Given the description of an element on the screen output the (x, y) to click on. 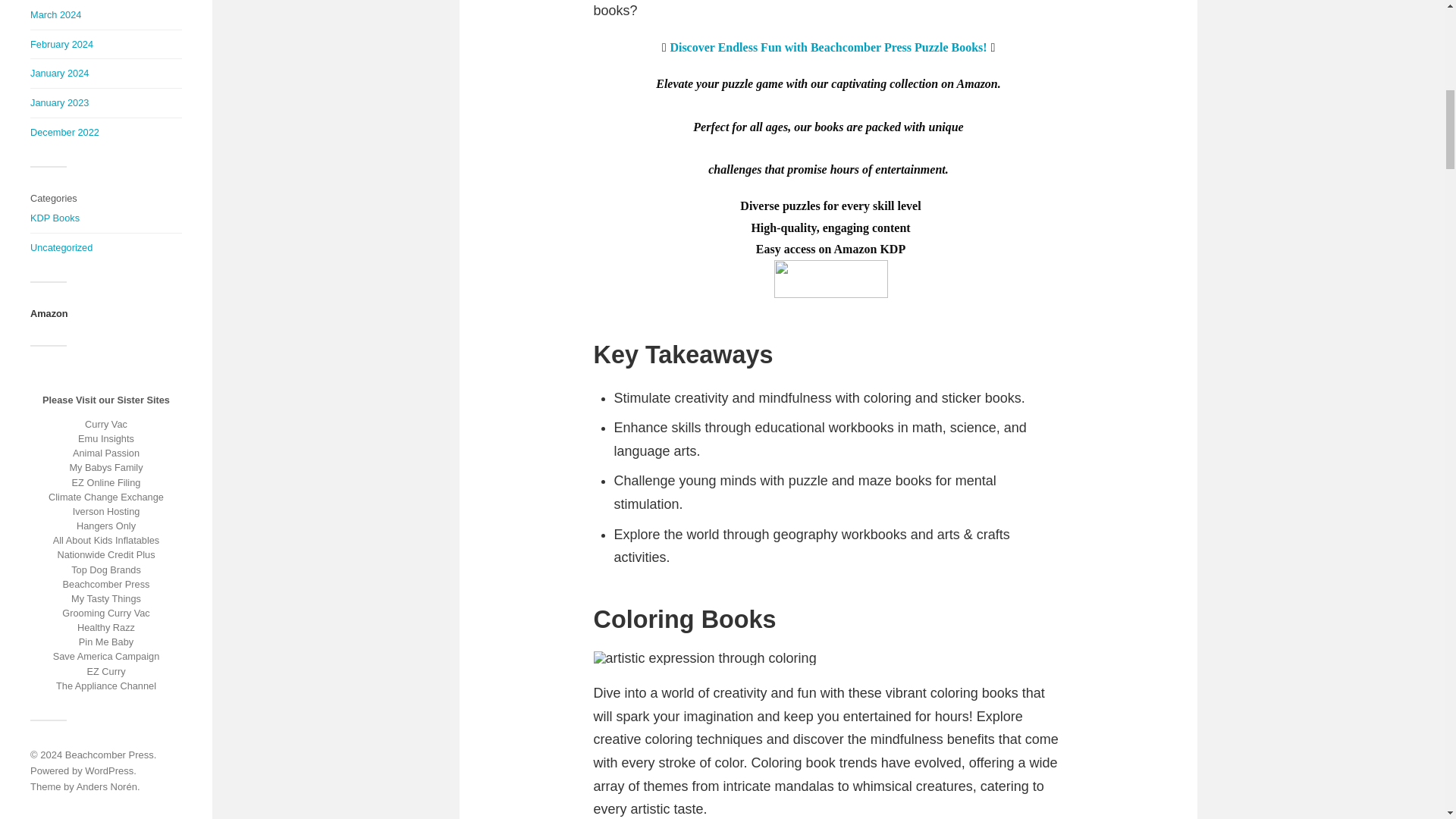
February 2024 (61, 43)
EZ Online Filing (106, 482)
Grooming Curry Vac (105, 613)
My Babys Family (105, 467)
Uncategorized (61, 247)
Nationwide Credit Plus (105, 554)
January 2023 (59, 102)
Hangers Only (106, 525)
December 2022 (64, 132)
Animal Passion (105, 452)
Climate Change Exchange (105, 496)
Top Dog Brands (106, 569)
Beachcomber Press (105, 583)
My Tasty Things (106, 598)
Curry Vac (106, 423)
